Given the description of an element on the screen output the (x, y) to click on. 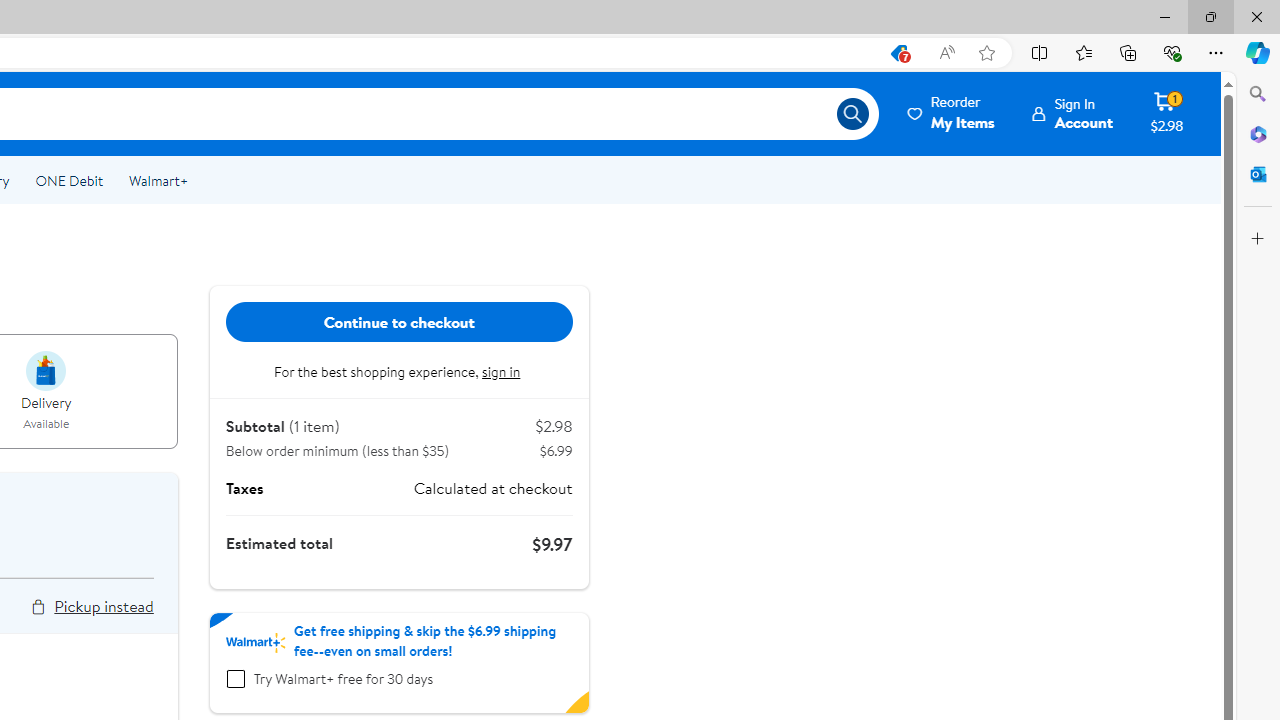
Walmart Plus (255, 642)
Cart contains 1 item Total Amount $2.98 (1166, 113)
intent image for delivery (45, 370)
ReorderMy Items (952, 113)
Try Walmart+ free for 30 days (235, 679)
This site has coupons! Shopping in Microsoft Edge, 7 (898, 53)
Search icon (852, 113)
